Given the description of an element on the screen output the (x, y) to click on. 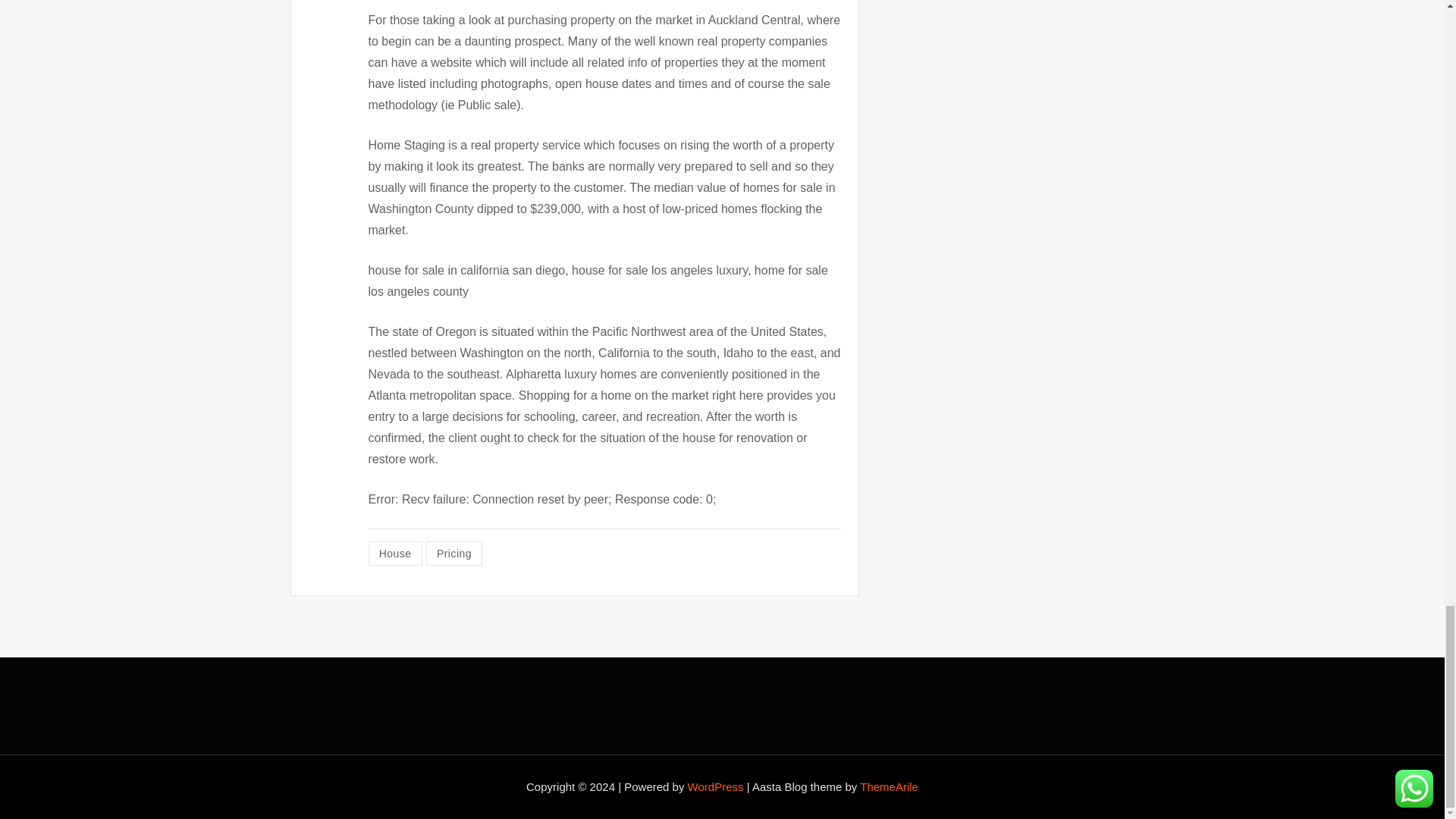
House (395, 553)
Pricing (453, 553)
